Given the description of an element on the screen output the (x, y) to click on. 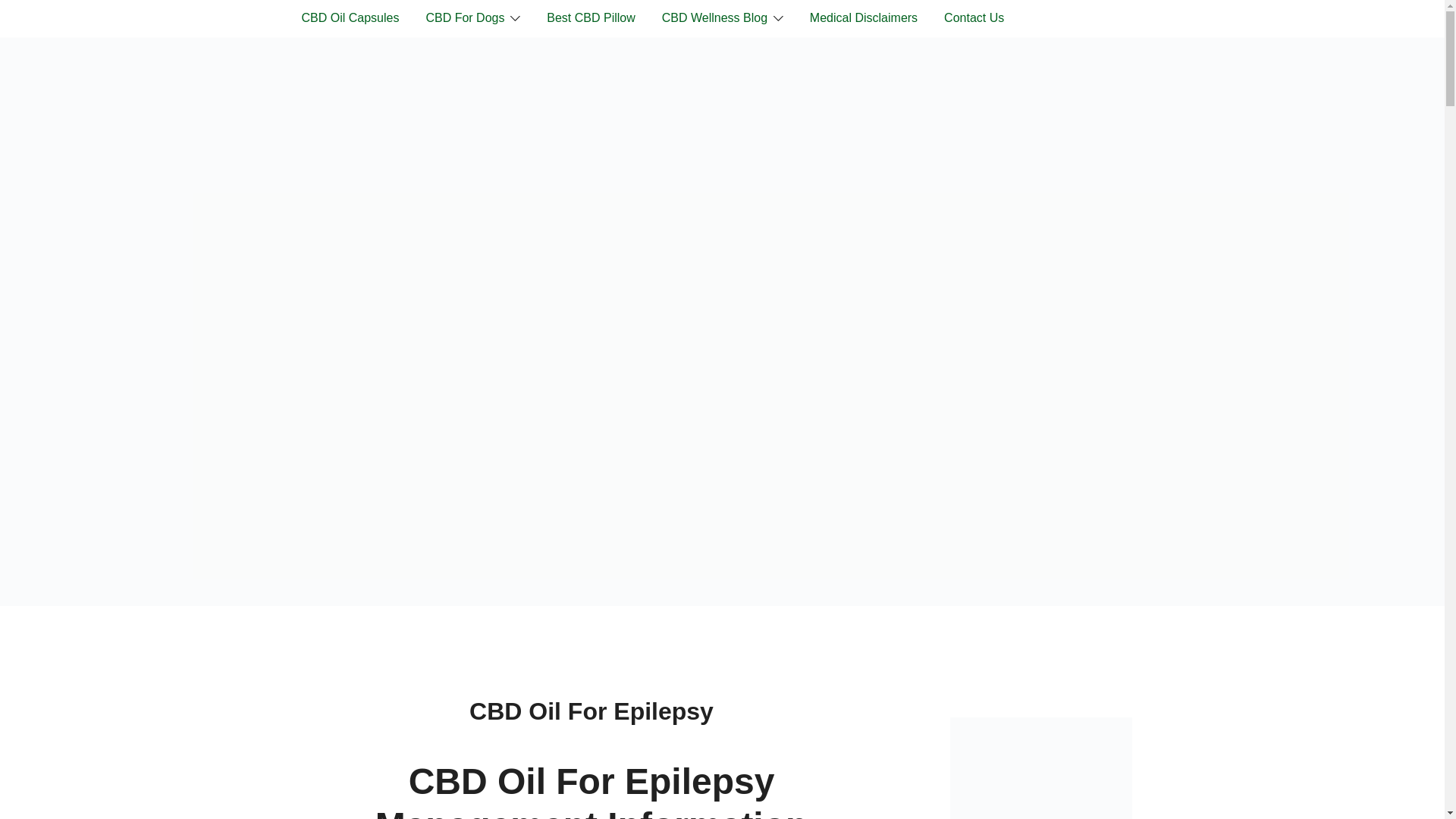
Medical Disclaimers (863, 18)
Best CBD Pillow (590, 18)
Close sidebar (944, 706)
CBD Wellness Blog (714, 18)
Contact Us (973, 18)
CBD For Dogs (464, 18)
CBD Oil Capsules (349, 18)
